Given the description of an element on the screen output the (x, y) to click on. 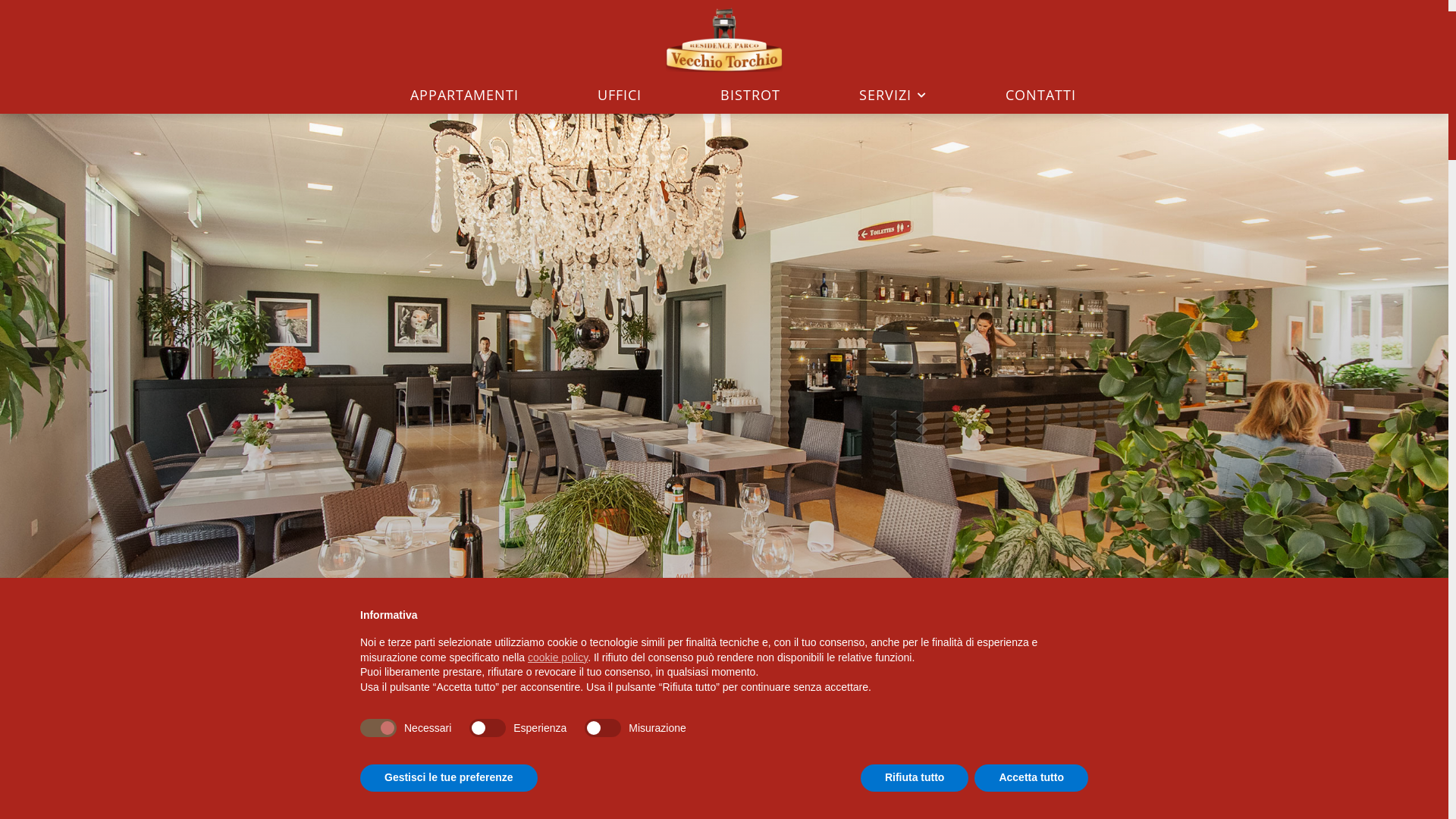
Accetta tutto Element type: text (1031, 777)
cookie policy Element type: text (557, 657)
UFFICI Element type: text (619, 93)
SERVIZI Element type: text (892, 93)
BISTROT Element type: text (750, 93)
Rifiuta tutto Element type: text (914, 777)
Gestisci le tue preferenze Element type: text (448, 777)
CONTATTI Element type: text (1040, 93)
APPARTAMENTI Element type: text (464, 93)
